Given the description of an element on the screen output the (x, y) to click on. 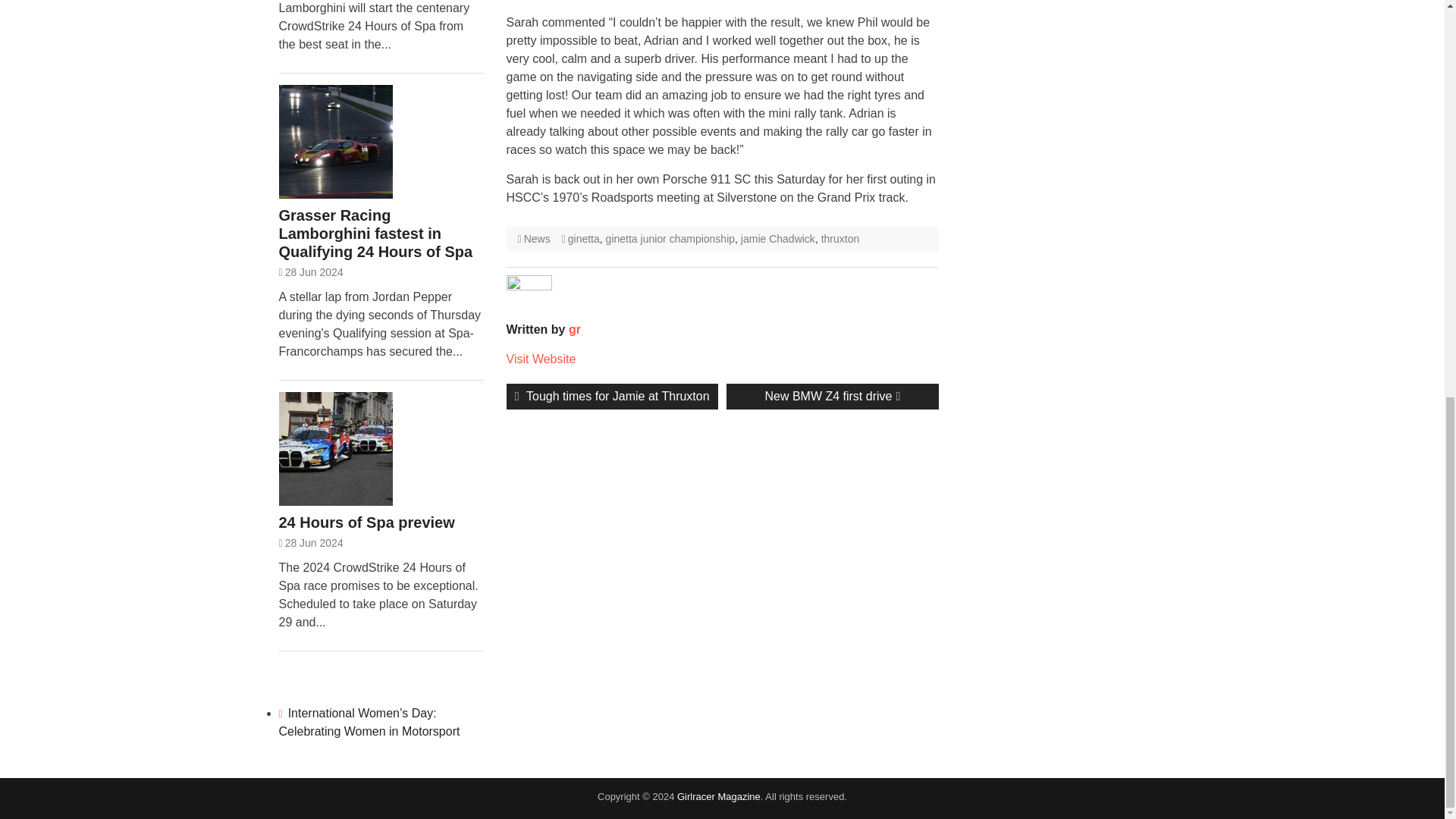
ginetta junior championship (670, 238)
thruxton (840, 238)
ginetta (583, 238)
gr (574, 328)
Visit Website (541, 358)
jamie Chadwick (778, 238)
Posts by gr (831, 396)
News (611, 396)
